Given the description of an element on the screen output the (x, y) to click on. 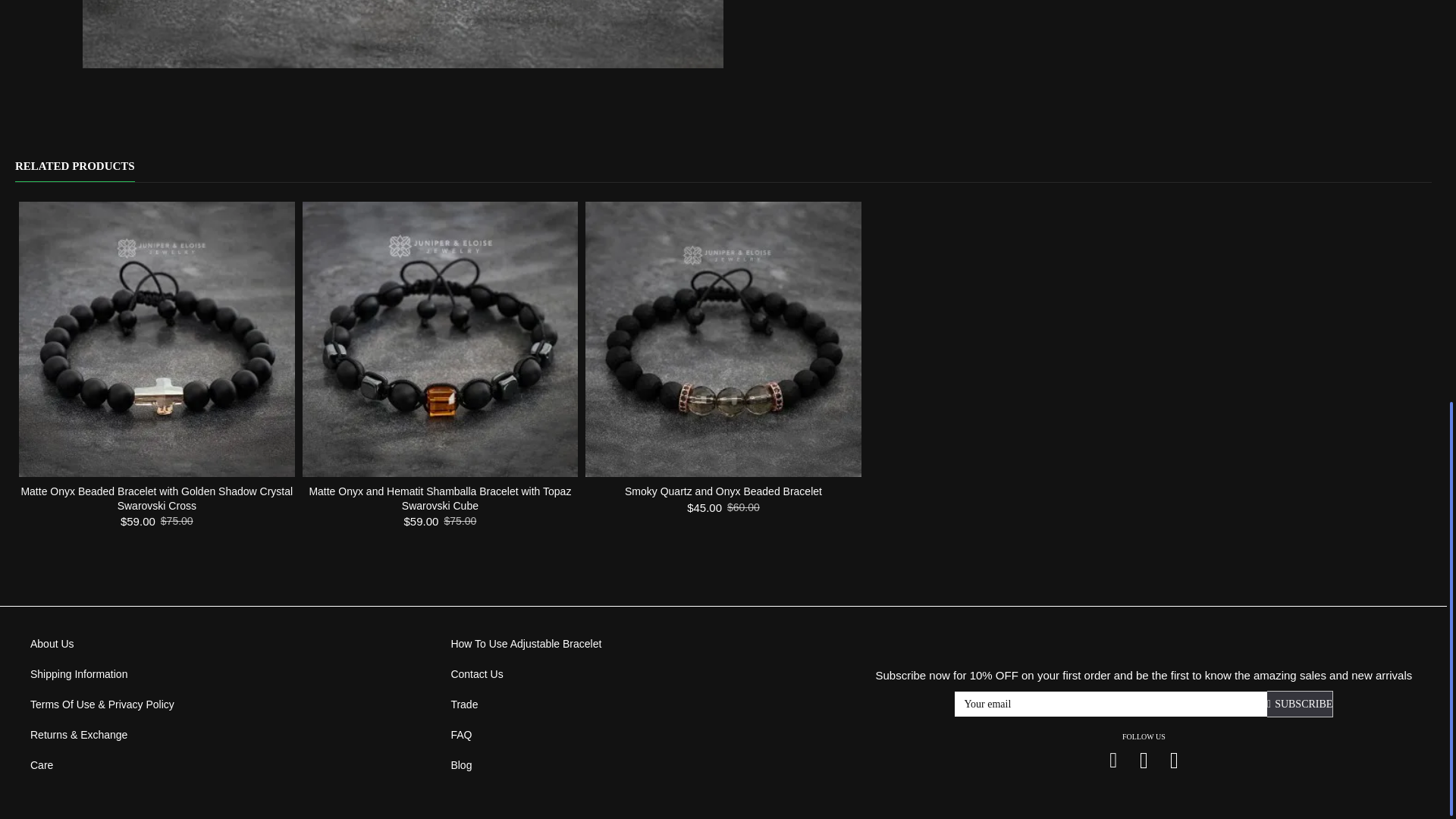
Matte Onyx Beaded Bracelet with Topaz Swarovski Cube (402, 33)
Smoky Quartz and Onyx Beaded Bracelet (723, 339)
